Given the description of an element on the screen output the (x, y) to click on. 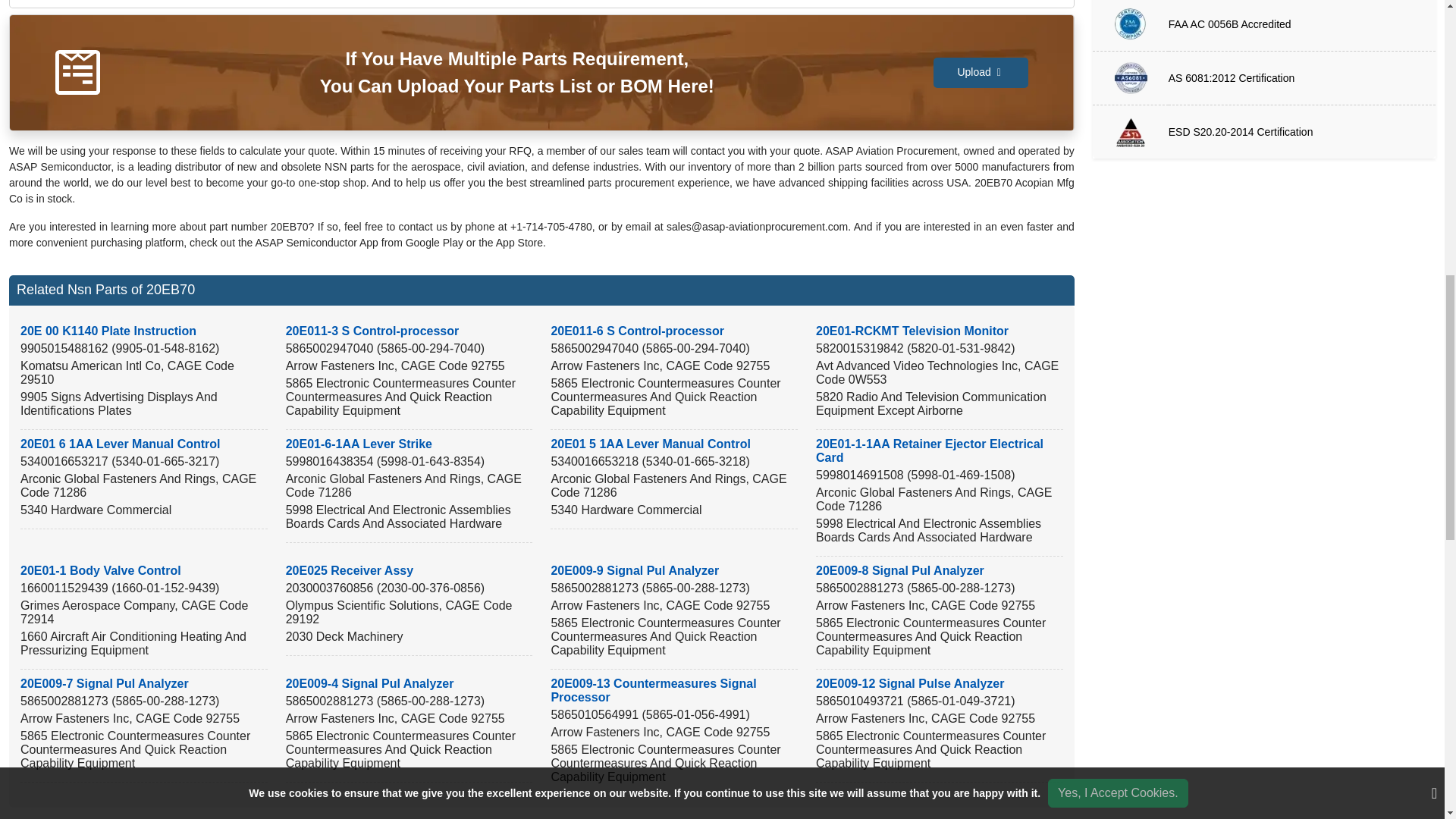
Upload   (980, 72)
20E01-RCKMT Television Monitor (912, 330)
20E 00 K1140 Plate Instruction (108, 330)
20E011-6 S Control-processor (636, 330)
20E011-3 S Control-processor (372, 330)
20E01 6 1AA Lever Manual Control (120, 443)
20E01 5 1AA Lever Manual Control (650, 443)
20E01-6-1AA Lever Strike (358, 443)
